Given the description of an element on the screen output the (x, y) to click on. 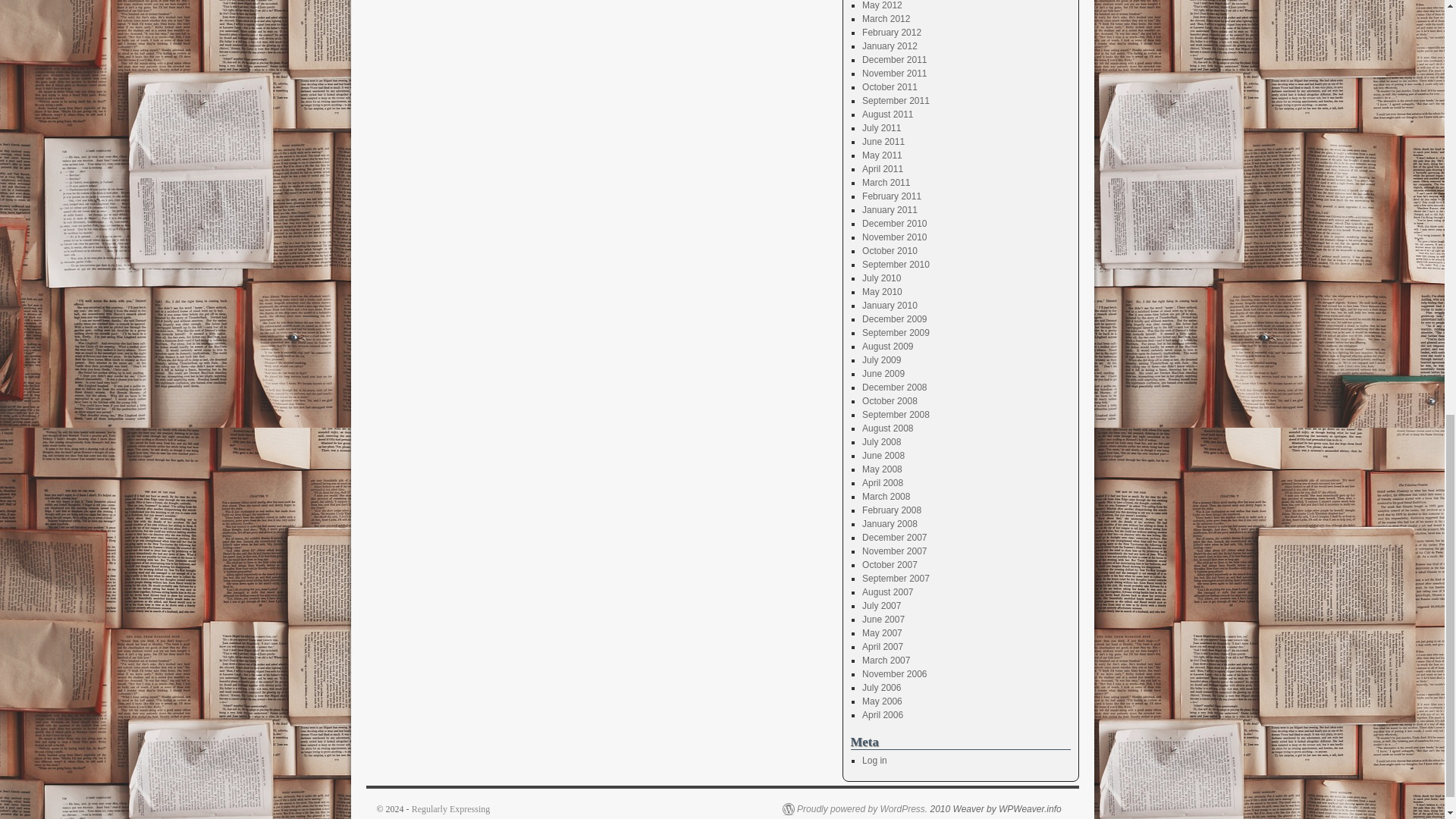
Regularly Expressing (451, 808)
Semantic Personal Publishing Platform (855, 808)
